Given the description of an element on the screen output the (x, y) to click on. 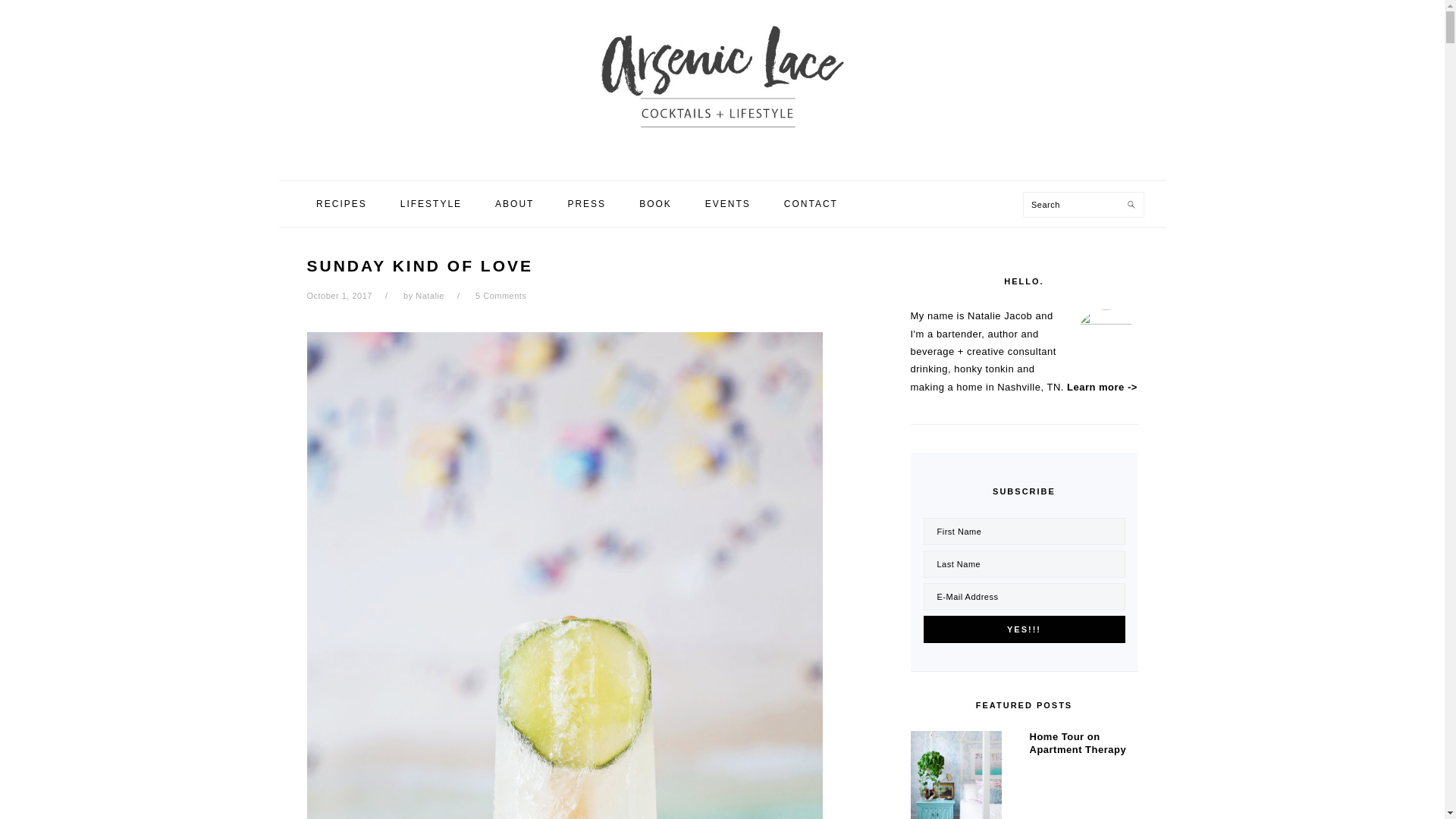
5 Comments (500, 295)
YES!!! (1024, 628)
EVENTS (727, 203)
ARSENIC LACE (721, 89)
CONTACT (810, 203)
RECIPES (340, 203)
PRESS (586, 203)
ABOUT (514, 203)
LIFESTYLE (430, 203)
BOOK (655, 203)
Natalie (429, 295)
